Given the description of an element on the screen output the (x, y) to click on. 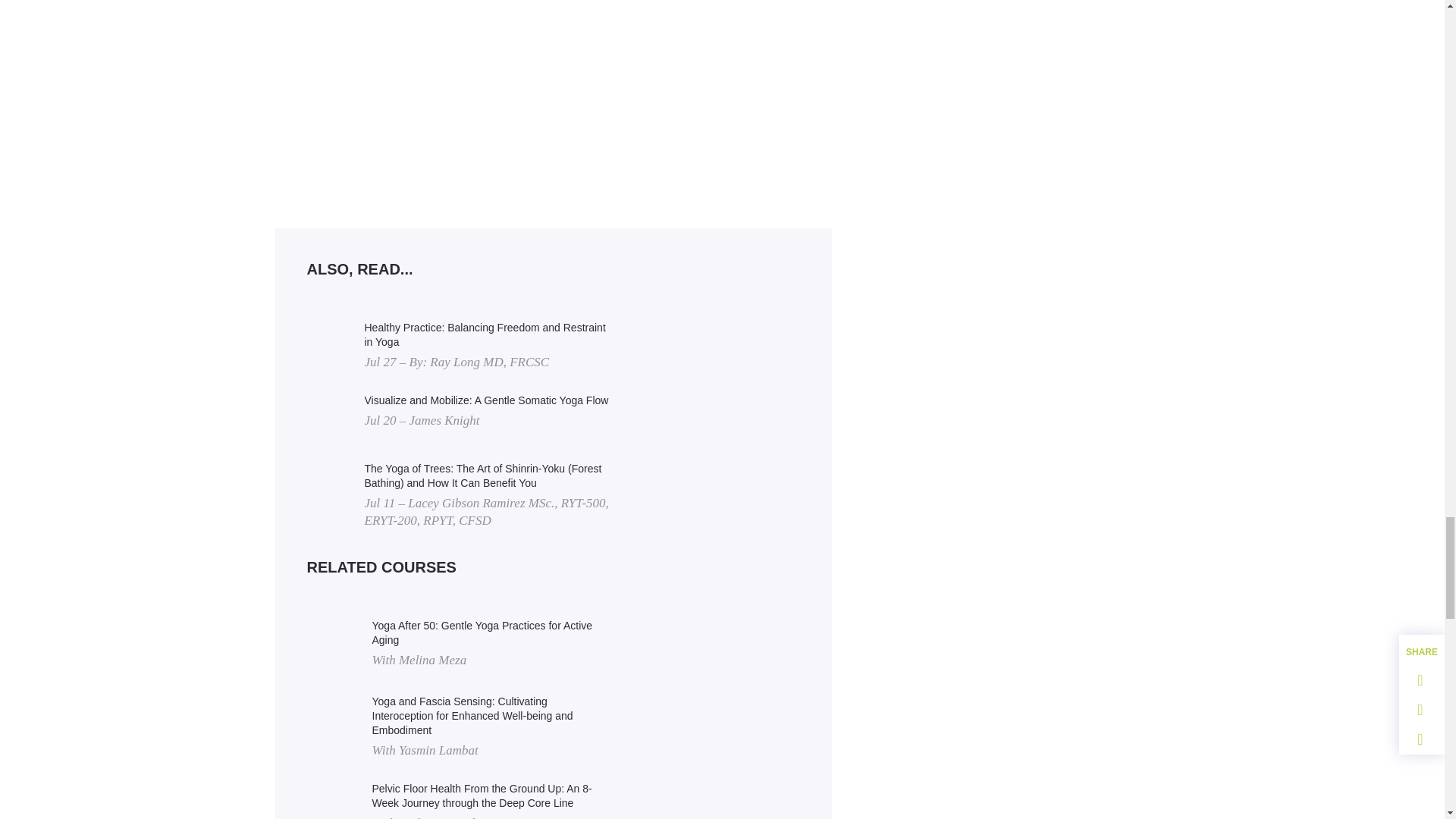
Healthy Practice: Balancing Freedom and Restraint in Yoga (487, 335)
